Given the description of an element on the screen output the (x, y) to click on. 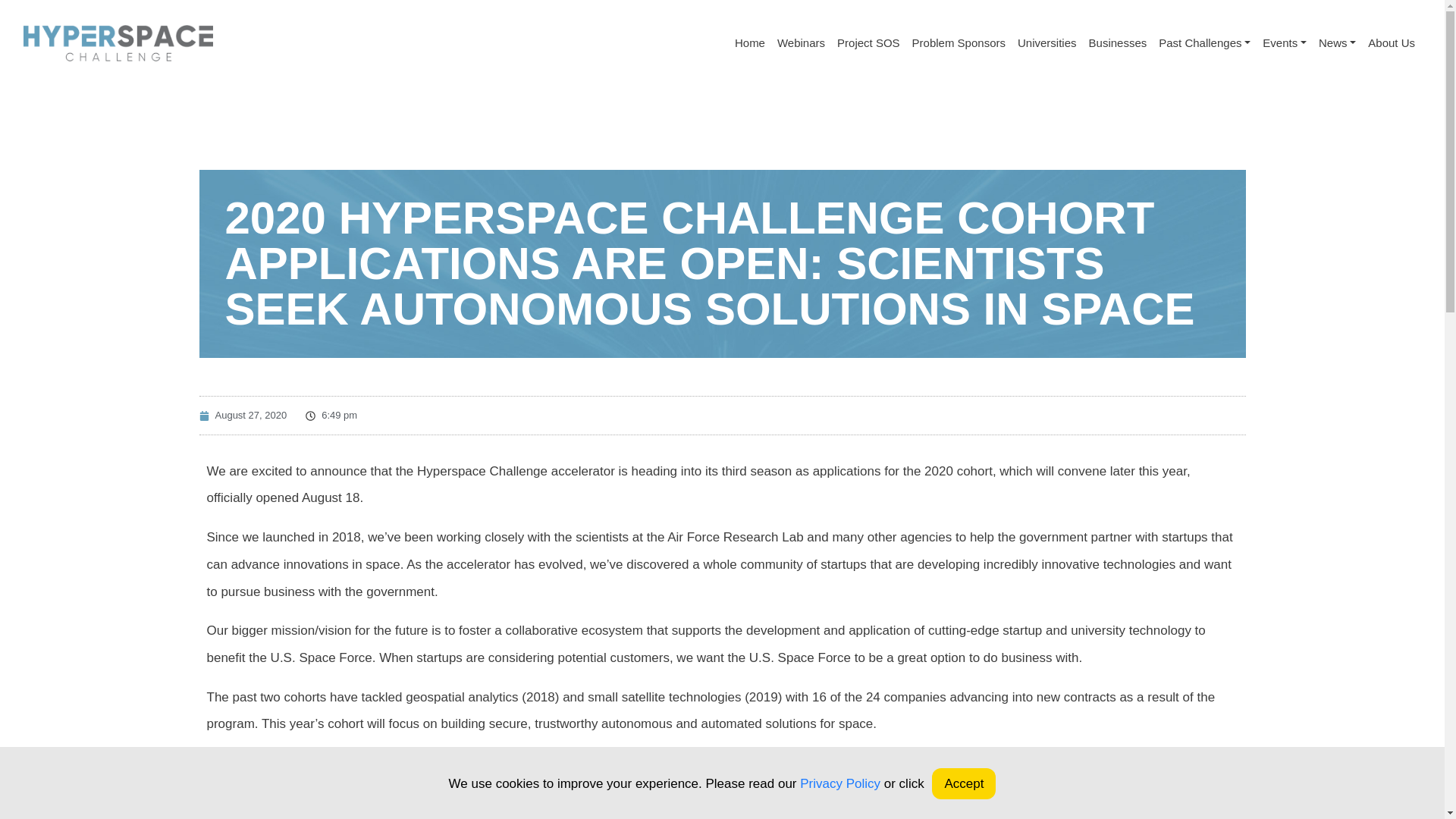
Accept (963, 783)
Home (750, 43)
News (1337, 43)
August 27, 2020 (242, 415)
About Us (1391, 43)
Webinars (801, 43)
Project SOS (868, 43)
Past Challenges (1204, 43)
Problem Sponsors (958, 43)
Businesses (1118, 43)
Universities (1047, 43)
Events (1284, 43)
Privacy Policy (839, 783)
